Given the description of an element on the screen output the (x, y) to click on. 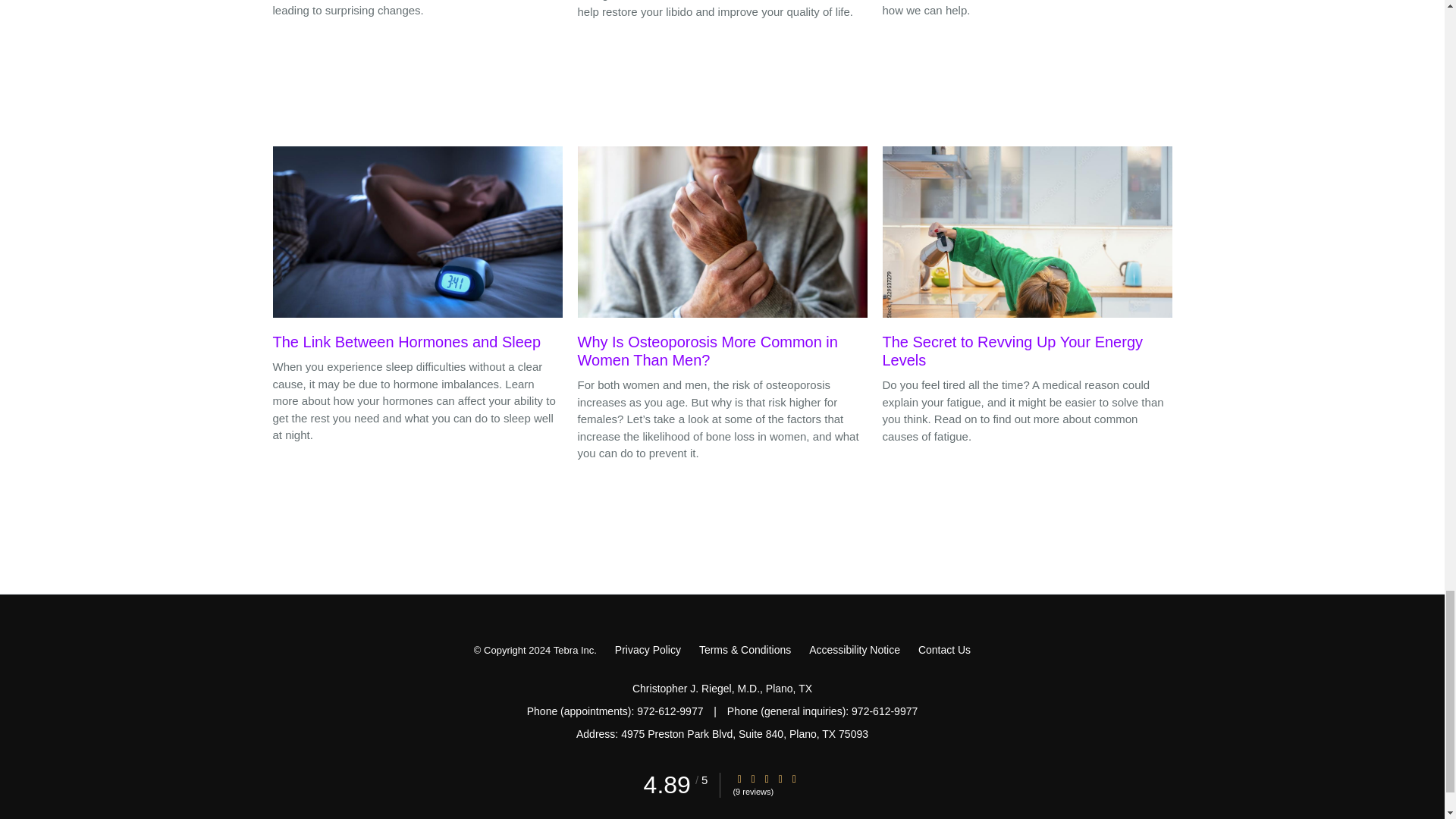
Star Rating (766, 778)
Star Rating (738, 778)
Star Rating (780, 778)
Star Rating (753, 778)
Star Rating (794, 778)
